Given the description of an element on the screen output the (x, y) to click on. 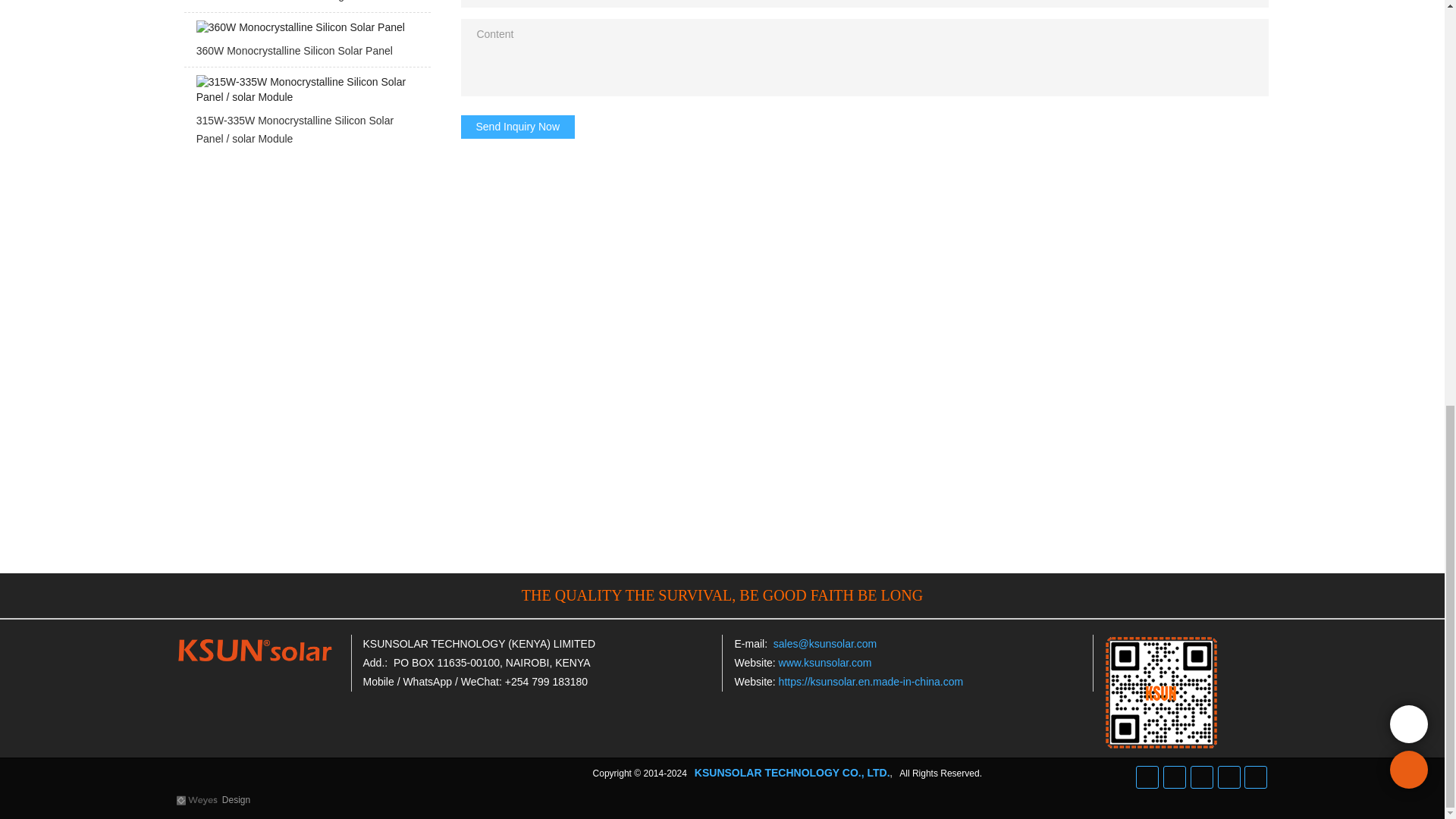
Send Inquiry Now (518, 126)
40W All-In-One Solar Street Light (306, 6)
360W Monocrystalline Silicon Solar Panel (306, 43)
